Given the description of an element on the screen output the (x, y) to click on. 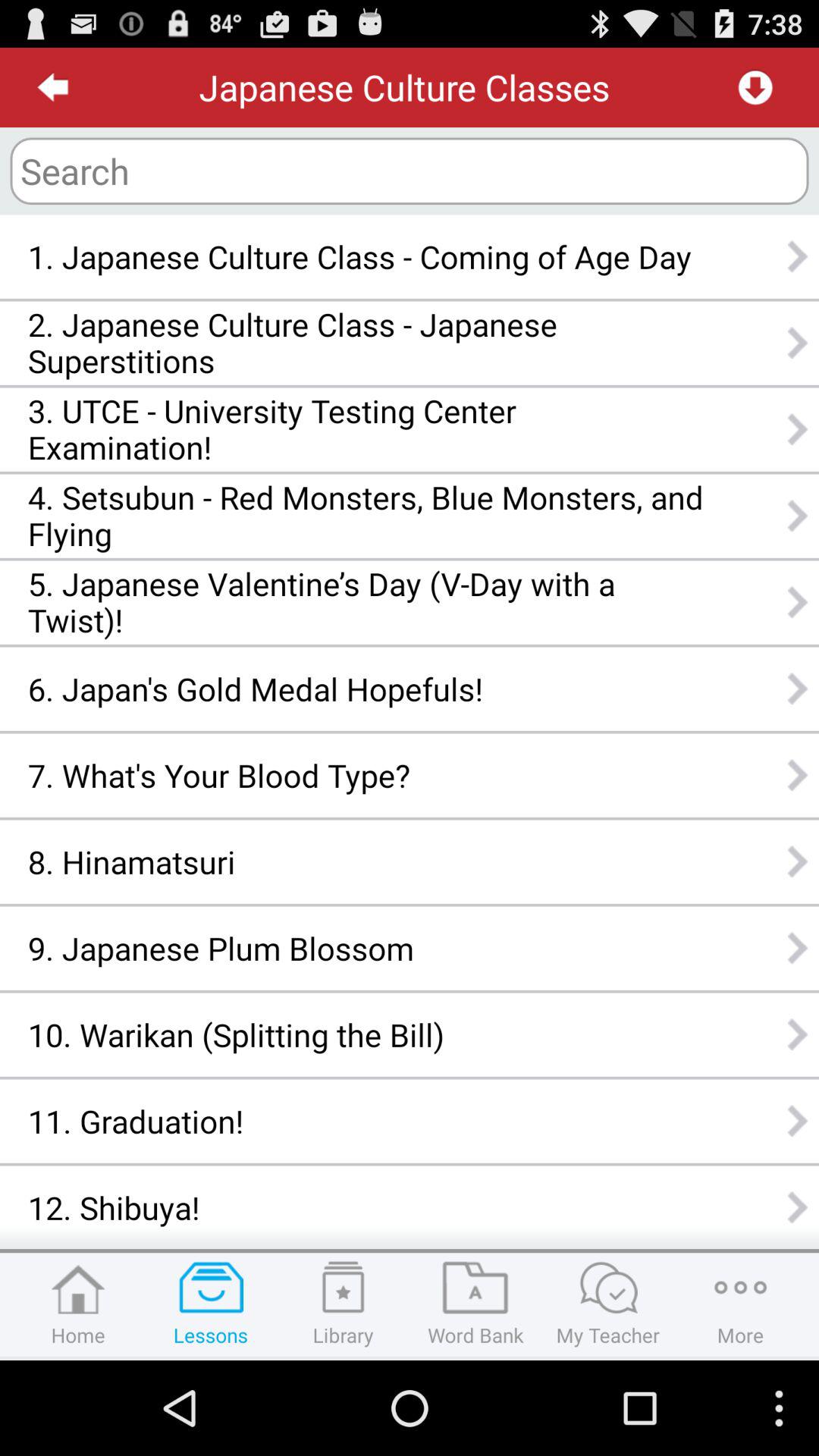
choose the 10 warikan splitting icon (365, 1034)
